Given the description of an element on the screen output the (x, y) to click on. 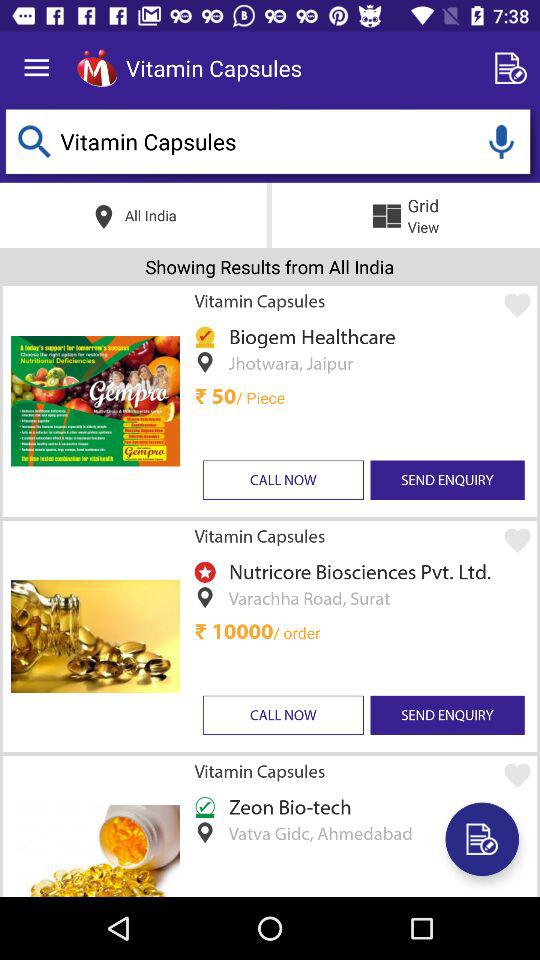
swipe until zeon bio-tech icon (286, 806)
